Given the description of an element on the screen output the (x, y) to click on. 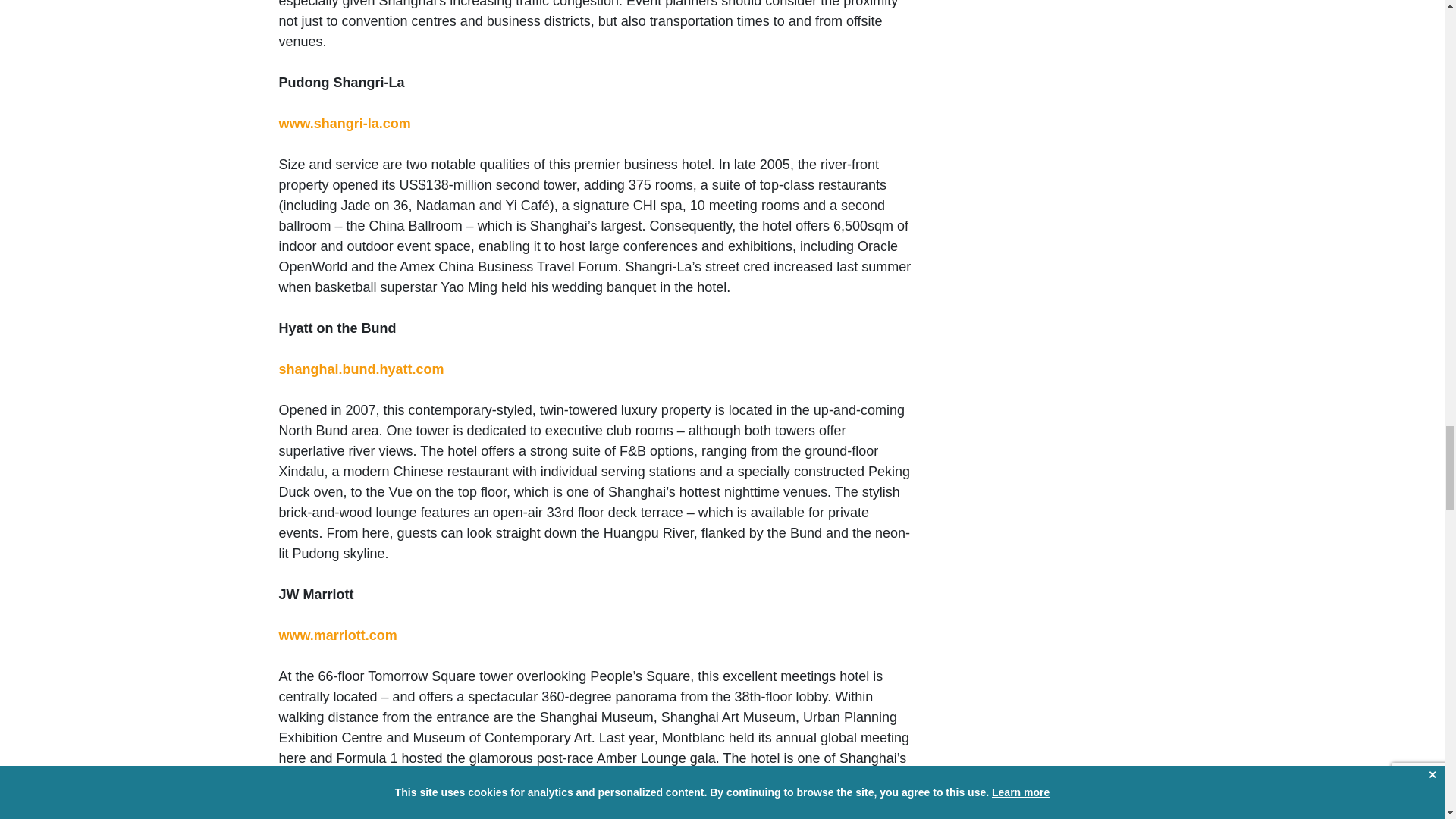
www.marriott.com (338, 635)
shanghai.bund.hyatt.com (361, 368)
www.shangri-la.com (344, 123)
